Given the description of an element on the screen output the (x, y) to click on. 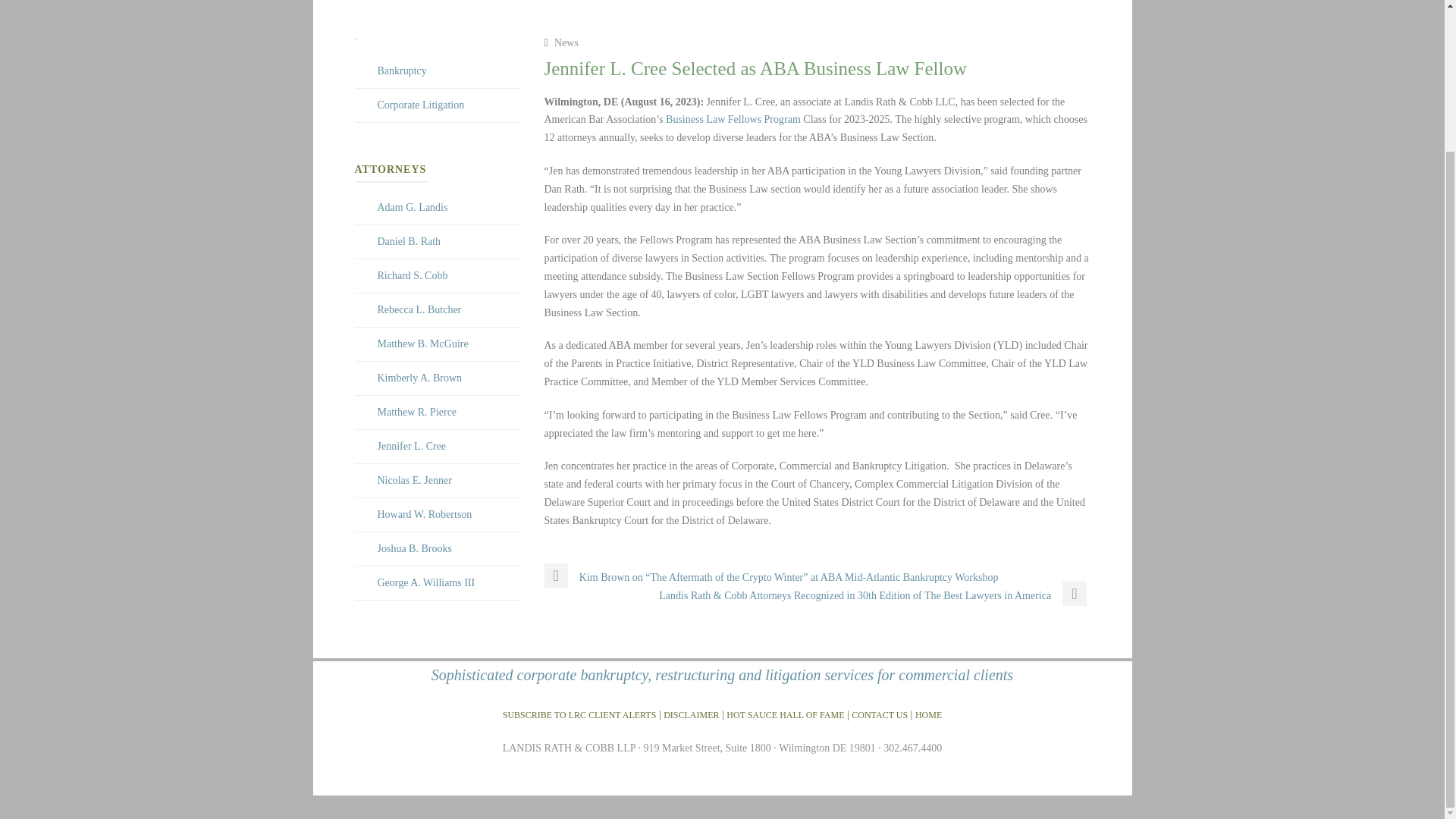
Corporate Litigation (420, 104)
Home (928, 714)
Disclaimer (691, 714)
Contact Us (879, 714)
News (566, 42)
Hot Sauce Hall of Fame (785, 714)
Business Law Fellows Program (732, 119)
Adam G. Landis (412, 206)
Kimberly A. Brown (420, 378)
Richard S. Cobb (412, 275)
Jennifer L. Cree (411, 446)
Howard W. Robertson (424, 514)
Matthew B. McGuire (422, 343)
Rebecca L. Butcher (419, 309)
Matthew R. Pierce (417, 411)
